Given the description of an element on the screen output the (x, y) to click on. 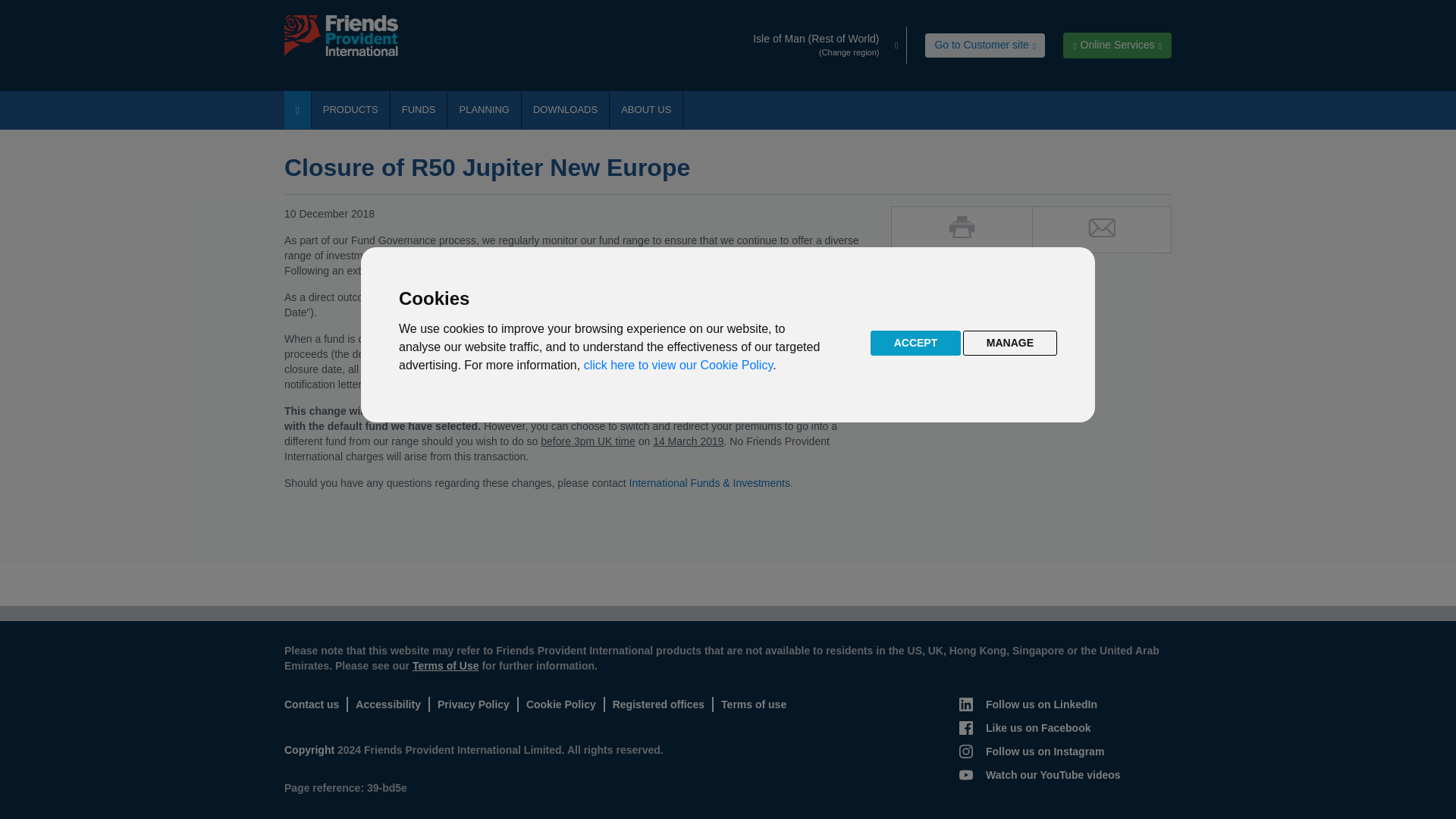
Online Services (1117, 45)
Home (297, 109)
click here to view our Cookie Policy (678, 364)
MANAGE (1009, 342)
PRODUCTS (350, 109)
Go to Customer site (984, 45)
Online Services (1117, 45)
PLANNING (482, 109)
Rest of the World region - Adviser site home page (348, 35)
FUNDS (418, 109)
Go to Customer site (984, 45)
ACCEPT (915, 342)
Products (350, 109)
